Given the description of an element on the screen output the (x, y) to click on. 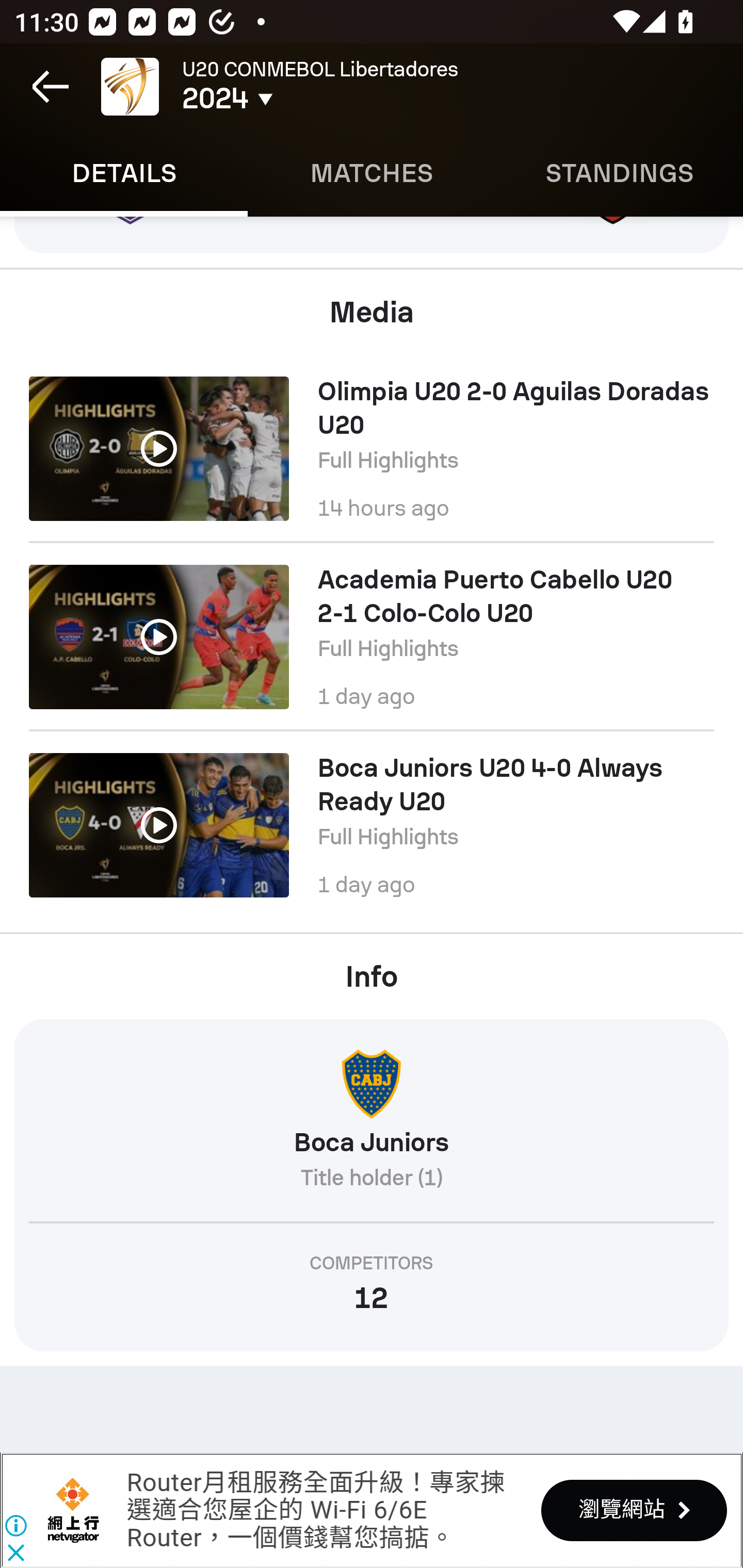
Navigate up (50, 86)
2024 (300, 98)
Matches MATCHES (371, 173)
Standings STANDINGS (619, 173)
Boca Juniors Title holder (1) (371, 1127)
網上行 Netvigator (73, 1510)
瀏覽網站 (634, 1509)
